Given the description of an element on the screen output the (x, y) to click on. 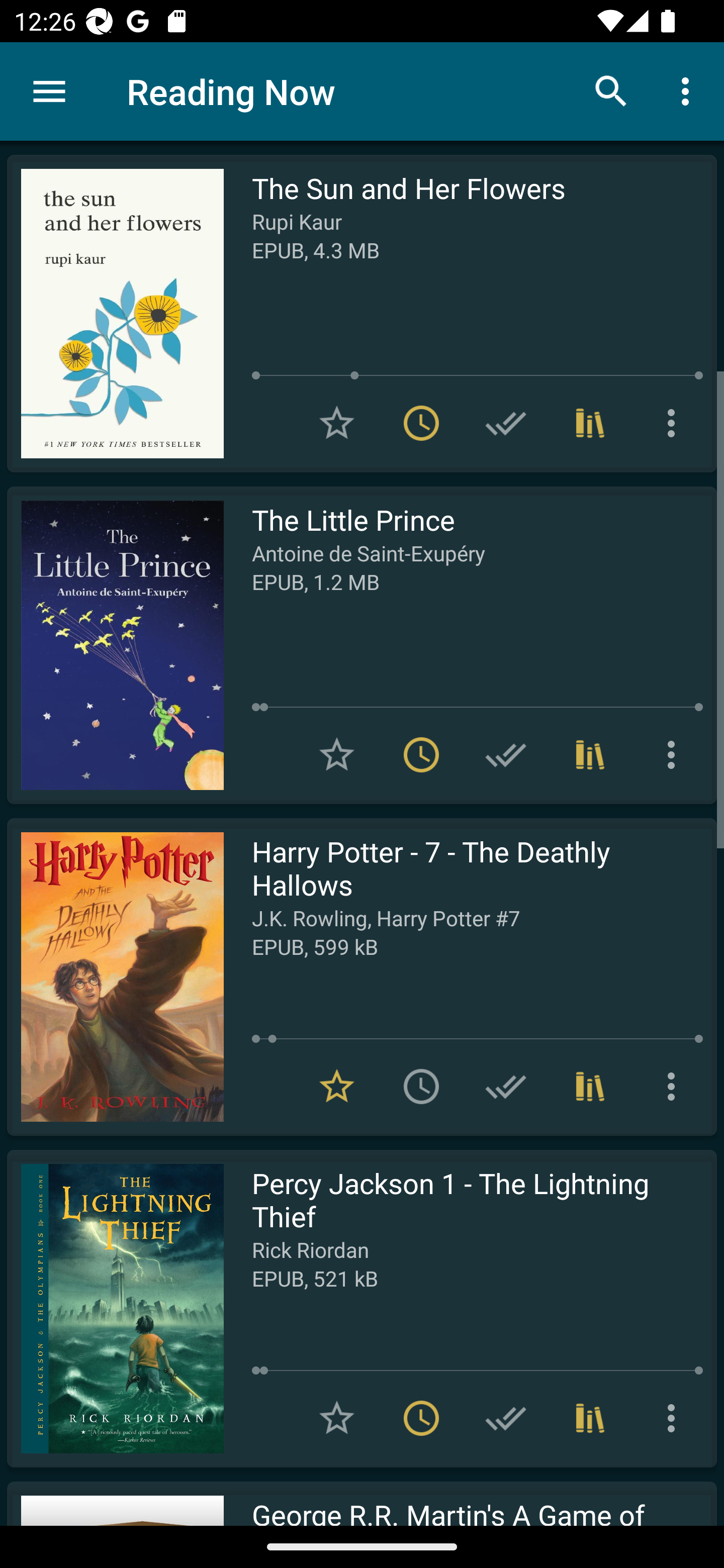
Menu (49, 91)
Search books & documents (611, 90)
More options (688, 90)
Read The Sun and Her Flowers (115, 313)
Add to Favorites (336, 423)
Remove from To read (421, 423)
Add to Have read (505, 423)
Collections (1) (590, 423)
More options (674, 423)
Read The Little Prince (115, 645)
Add to Favorites (336, 753)
Remove from To read (421, 753)
Add to Have read (505, 753)
Collections (1) (590, 753)
More options (674, 753)
Read Harry Potter - 7 - The Deathly Hallows (115, 976)
Remove from Favorites (336, 1086)
Add to To read (421, 1086)
Add to Have read (505, 1086)
Collections (2) (590, 1086)
More options (674, 1086)
Read Percy Jackson 1 - The Lightning Thief (115, 1308)
Add to Favorites (336, 1417)
Remove from To read (421, 1417)
Add to Have read (505, 1417)
Collections (1) (590, 1417)
More options (674, 1417)
